Given the description of an element on the screen output the (x, y) to click on. 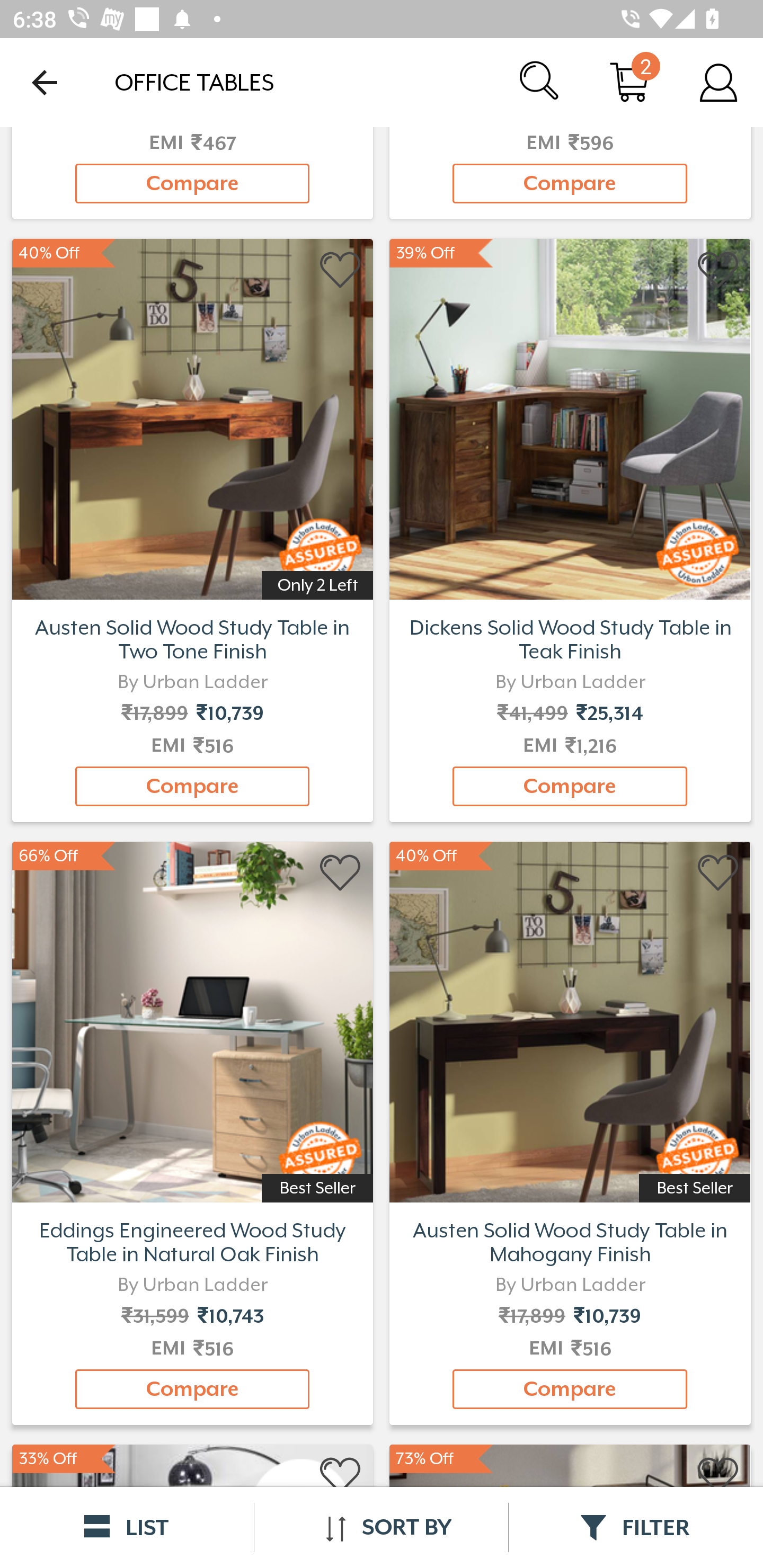
Navigate up (44, 82)
Search (540, 81)
Cart (629, 81)
Account Details (718, 81)
Compare (192, 183)
Compare (569, 183)
 (341, 270)
 (718, 270)
Compare (192, 785)
Compare (569, 785)
 (341, 873)
 (718, 873)
Compare (192, 1388)
Compare (569, 1388)
 (341, 1476)
 (718, 1476)
 LIST (127, 1527)
SORT BY (381, 1527)
 FILTER (635, 1527)
